Given the description of an element on the screen output the (x, y) to click on. 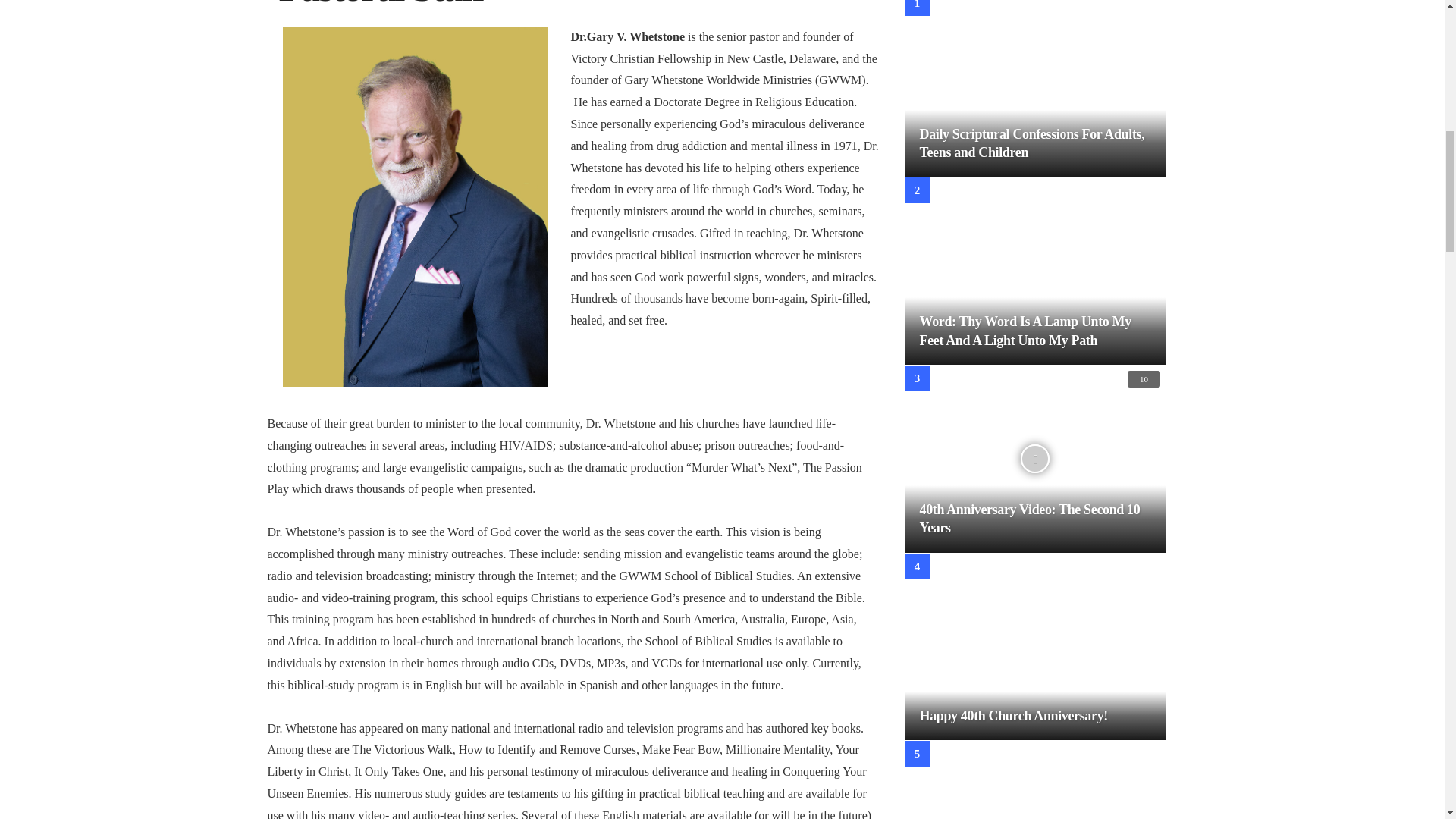
40th Anniversary Video: The Second 10 Years (1035, 458)
Happy 40th Church Anniversary! (1035, 647)
40th Anniversary Video: The Second 10 Years (1029, 518)
Daily Scriptural Confessions For Adults, Teens and Children (1031, 142)
Daily Scriptural Confessions For Adults, Teens and Children (1035, 88)
